Given the description of an element on the screen output the (x, y) to click on. 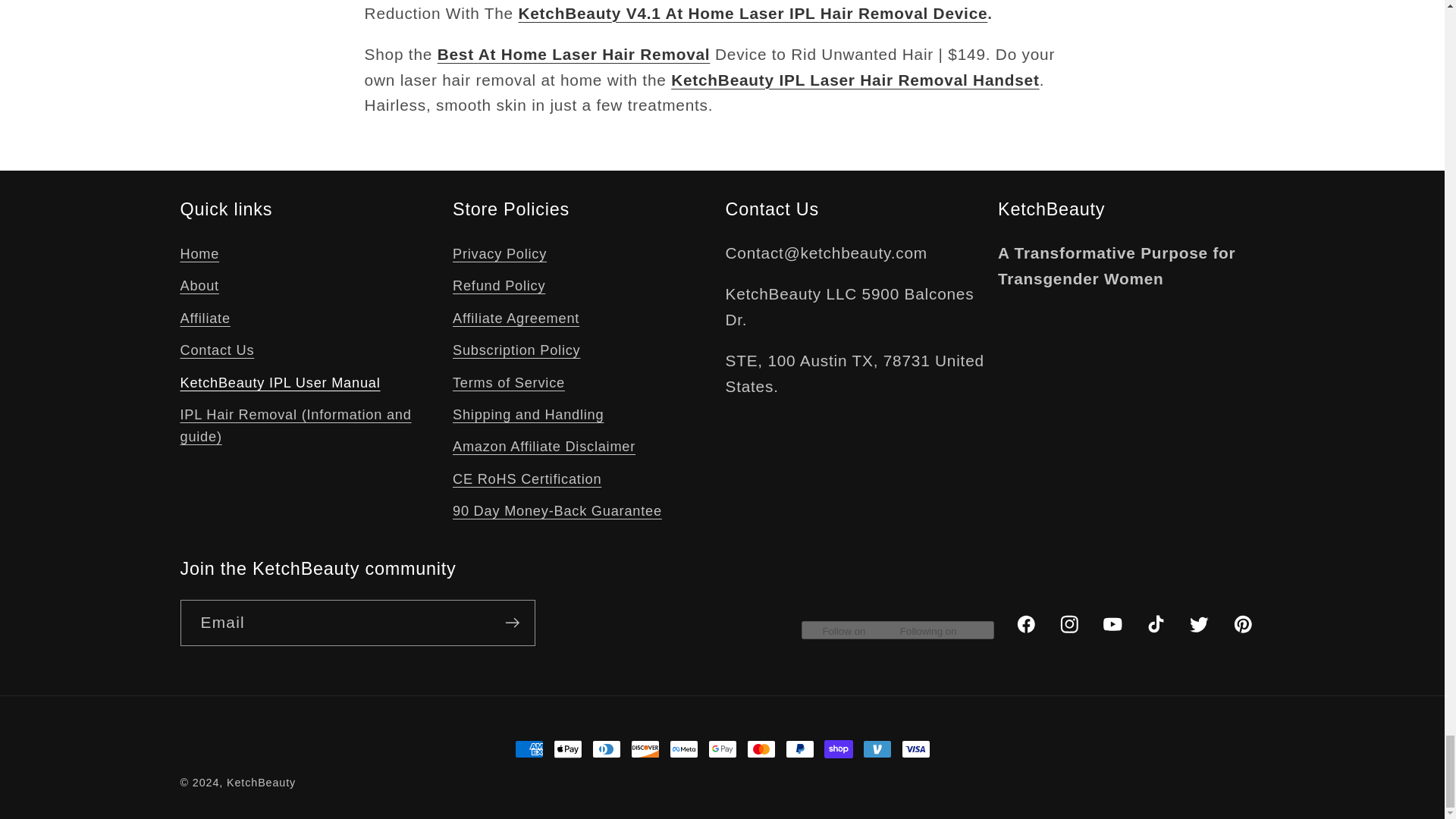
KetchBeauty V4.1 At Home Laser IPL Hair Removal Device (752, 13)
Best At Home Laser Hair Removal (574, 54)
Home (199, 257)
About (199, 286)
KetchBeauty IPL Laser Hair Removal Handset (855, 79)
KetchBeauty IPL Laser Hair Removal Handset (855, 79)
Contact Us (217, 350)
Affiliate (205, 318)
v4.1 At Home Laser IPL Hair Removal Device  (752, 13)
